Given the description of an element on the screen output the (x, y) to click on. 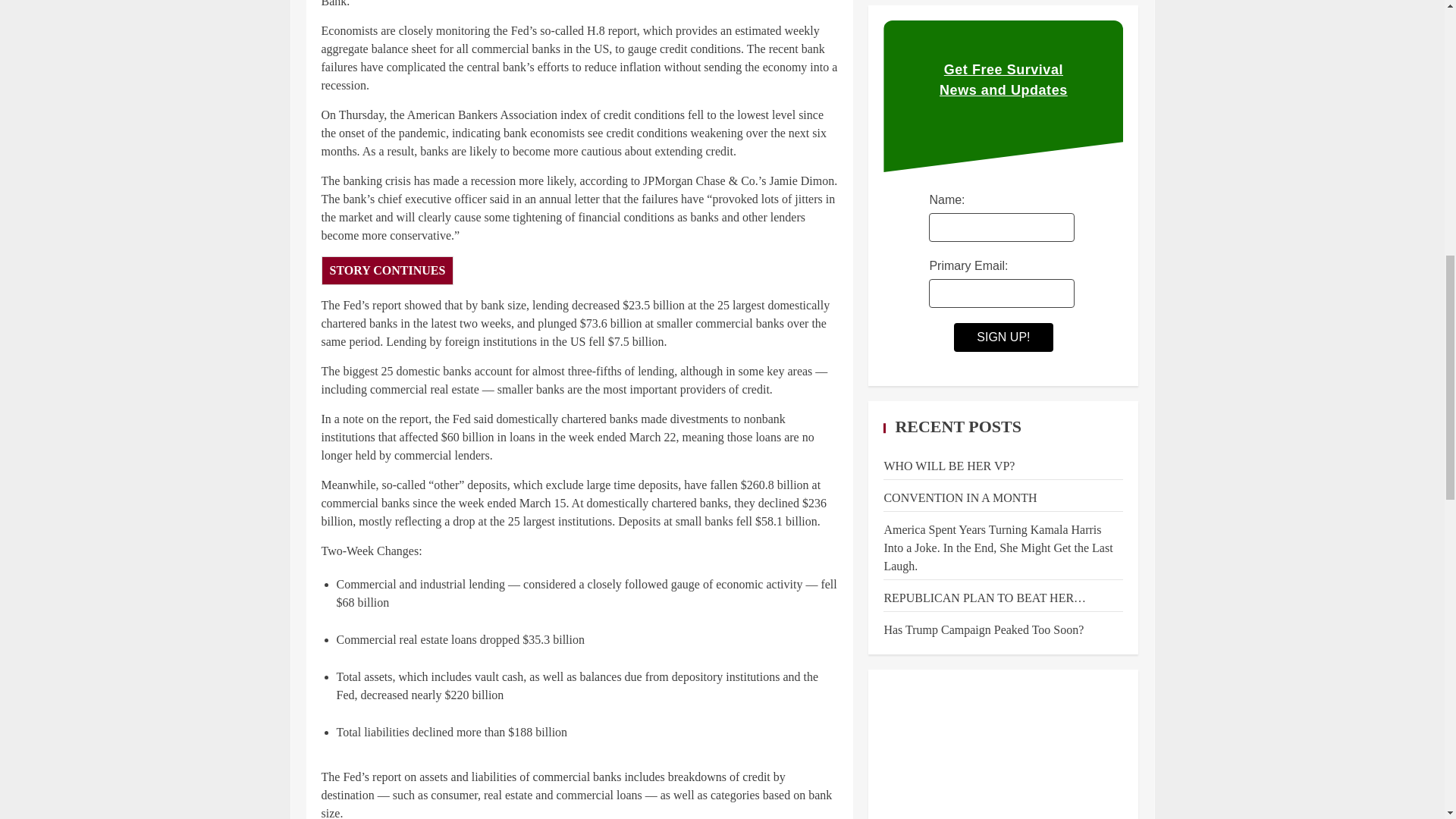
STORY CONTINUES (387, 270)
Tuesday (935, 749)
Monday (900, 749)
Sunday (1105, 749)
Saturday (1071, 749)
Friday (1037, 749)
Thursday (1003, 749)
SIGN UP! (1002, 123)
Wednesday (969, 749)
